Given the description of an element on the screen output the (x, y) to click on. 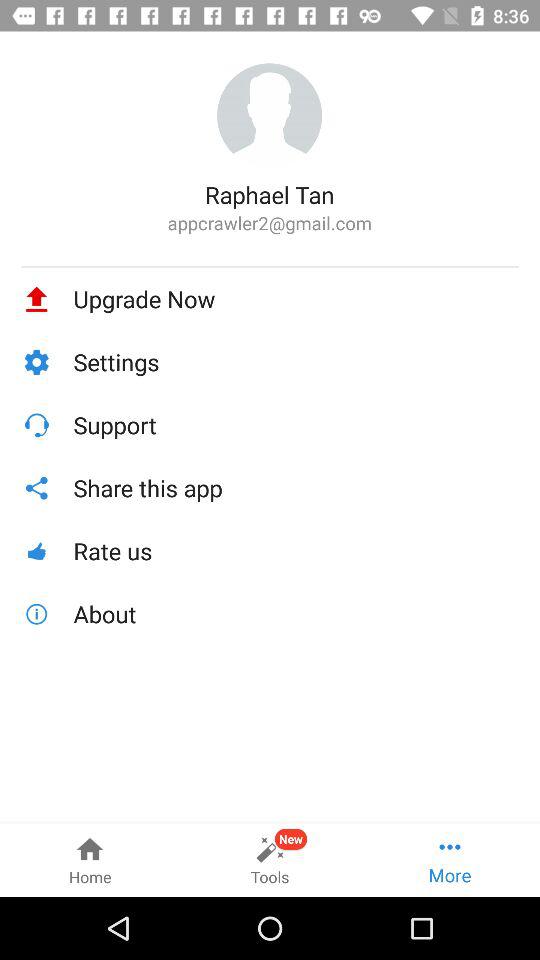
scroll until the about icon (296, 614)
